Given the description of an element on the screen output the (x, y) to click on. 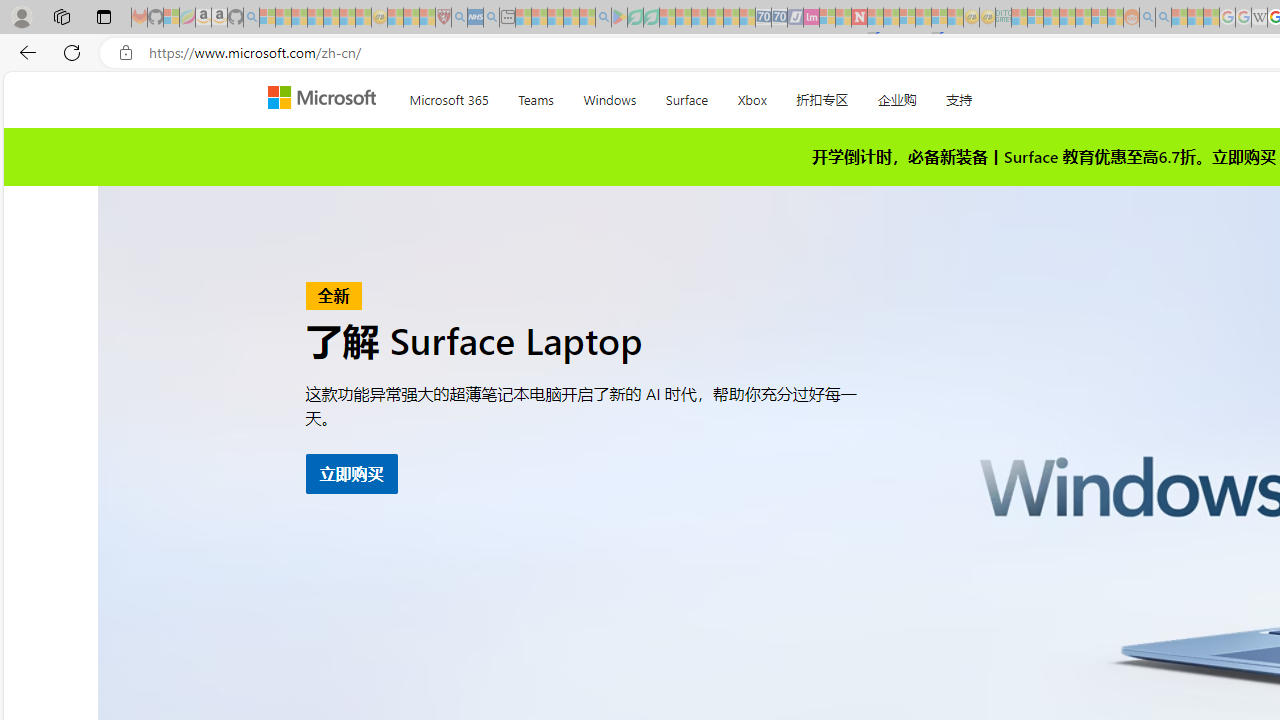
Cheap Car Rentals - Save70.com - Sleeping (763, 17)
Windows (609, 96)
MSNBC - MSN - Sleeping (1019, 17)
Xbox (751, 96)
